Given the description of an element on the screen output the (x, y) to click on. 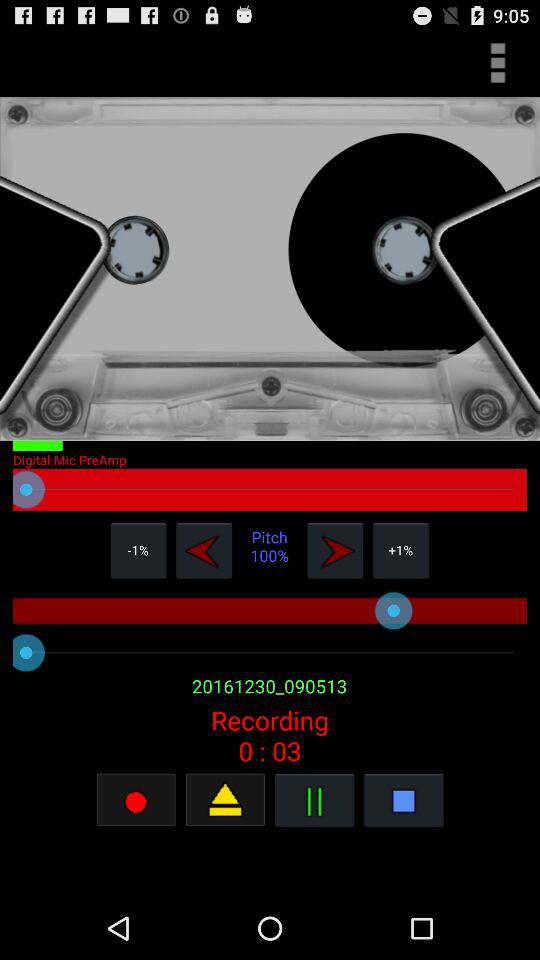
click to pass button (314, 799)
